Given the description of an element on the screen output the (x, y) to click on. 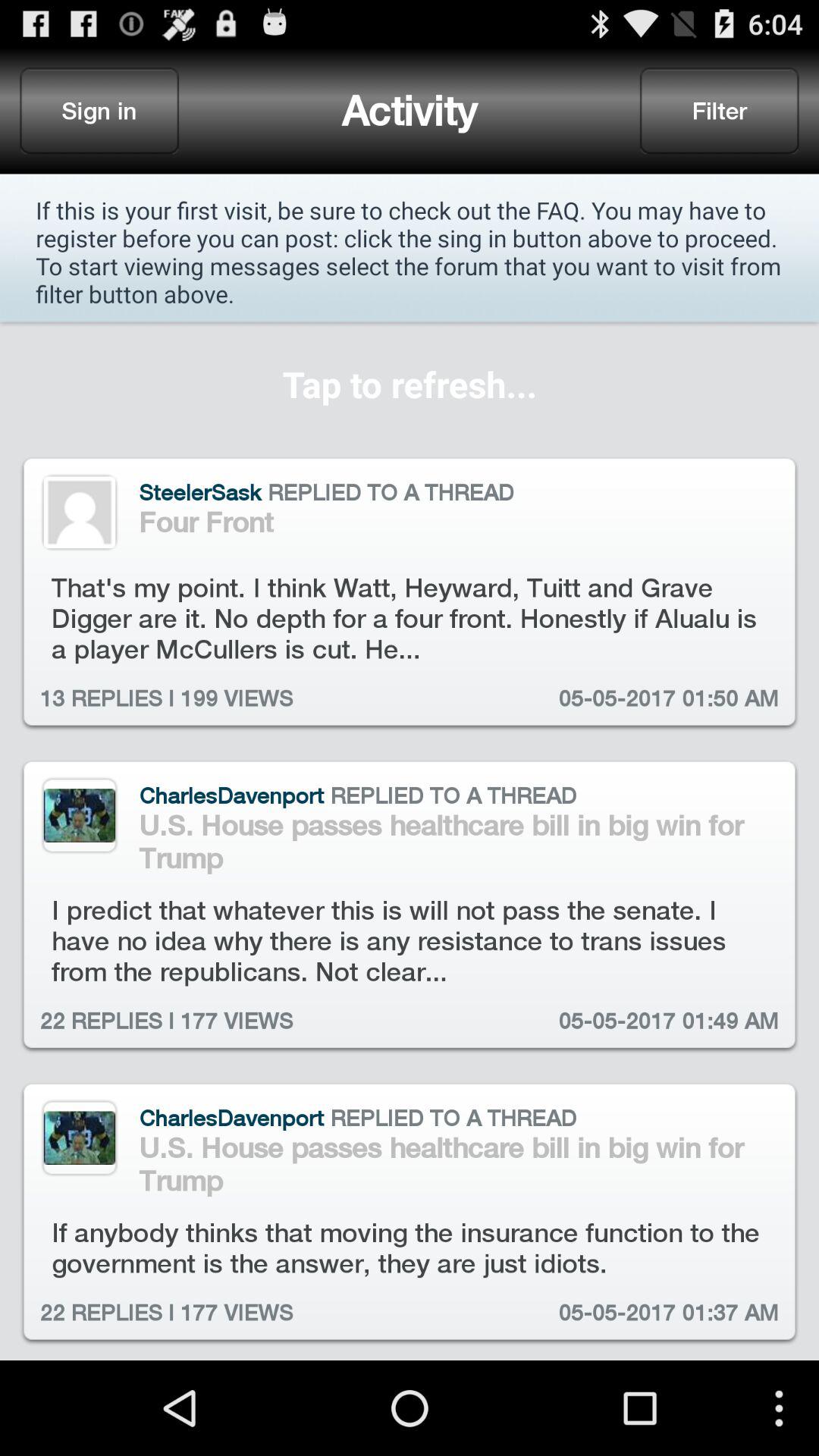
view image (79, 1137)
